Given the description of an element on the screen output the (x, y) to click on. 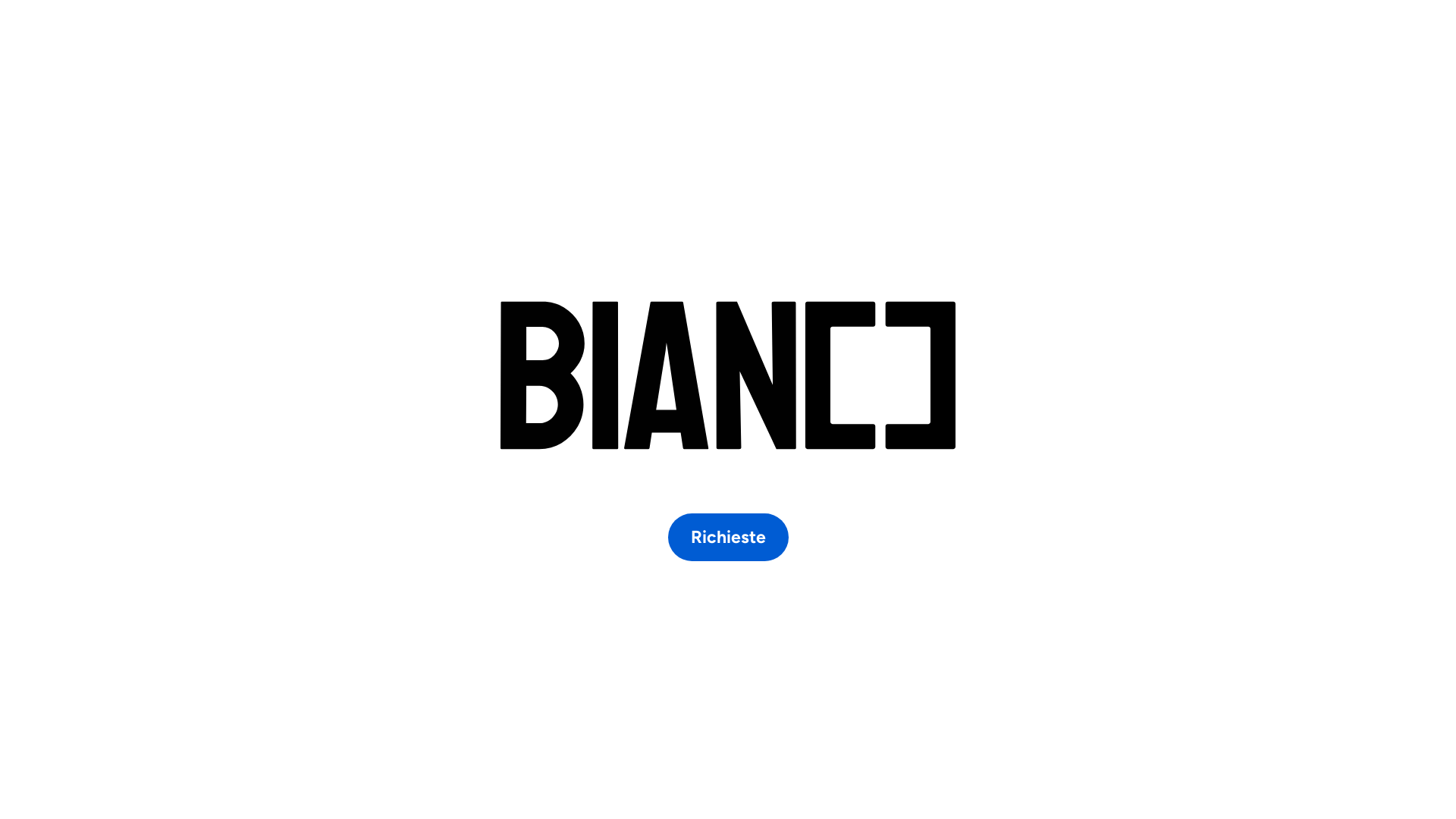
Richieste Element type: text (727, 537)
